Given the description of an element on the screen output the (x, y) to click on. 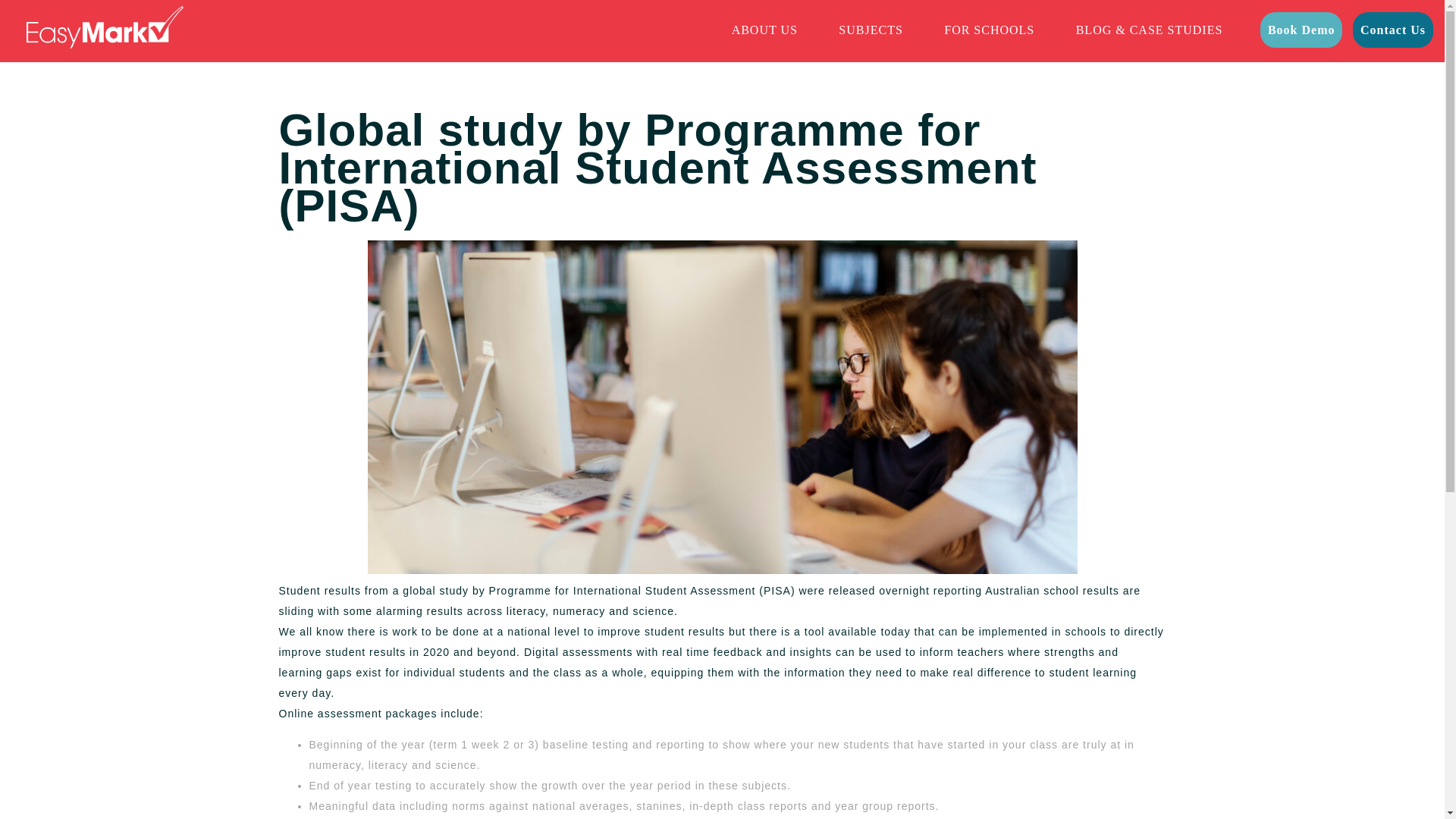
Book Demo (1301, 29)
ABOUT US (764, 29)
Contact Us (1392, 29)
FOR SCHOOLS (988, 29)
SUBJECTS (870, 29)
